Given the description of an element on the screen output the (x, y) to click on. 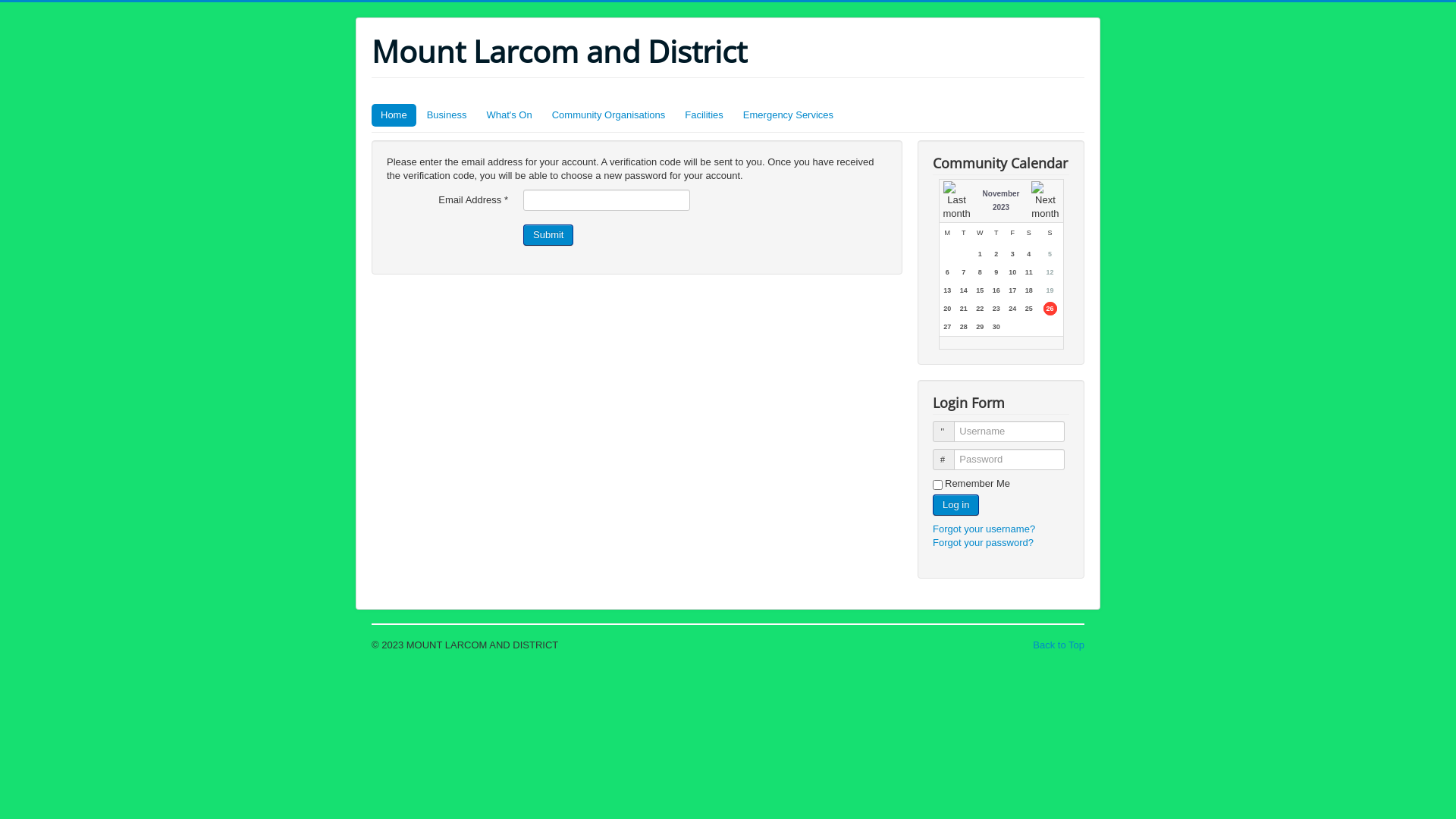
28 Element type: text (963, 326)
18 Element type: text (1028, 290)
Facilities Element type: text (703, 114)
Mount Larcom and District Element type: text (558, 51)
3 Element type: text (1012, 253)
Username Element type: hover (942, 431)
29 Element type: text (979, 326)
Back to Top Element type: text (1058, 644)
14 Element type: text (963, 290)
17 Element type: text (1012, 290)
2 Element type: text (995, 253)
Password Element type: hover (942, 459)
Previous month Element type: hover (956, 200)
Forgot your password? Element type: text (982, 542)
15 Element type: text (979, 290)
Forgot your username? Element type: text (983, 528)
10 Element type: text (1012, 272)
25 Element type: text (1028, 308)
What's On Element type: text (508, 114)
11 Element type: text (1028, 272)
Next month Element type: hover (1044, 200)
23 Element type: text (996, 308)
24 Element type: text (1012, 308)
8 Element type: text (980, 272)
12 Element type: text (1050, 272)
Home Element type: text (393, 114)
6 Element type: text (947, 272)
20 Element type: text (946, 308)
1 Element type: text (980, 253)
November 2023 Element type: text (1000, 200)
13 Element type: text (946, 290)
16 Element type: text (996, 290)
21 Element type: text (963, 308)
Emergency Services Element type: text (788, 114)
27 Element type: text (946, 326)
22 Element type: text (979, 308)
19 Element type: text (1050, 290)
4 Element type: text (1028, 253)
5 Element type: text (1049, 253)
Community Organisations Element type: text (608, 114)
9 Element type: text (995, 272)
Business Element type: text (446, 114)
7 Element type: text (963, 272)
Submit Element type: text (548, 234)
26 Element type: text (1050, 308)
30 Element type: text (996, 326)
Log in Element type: text (955, 504)
